Given the description of an element on the screen output the (x, y) to click on. 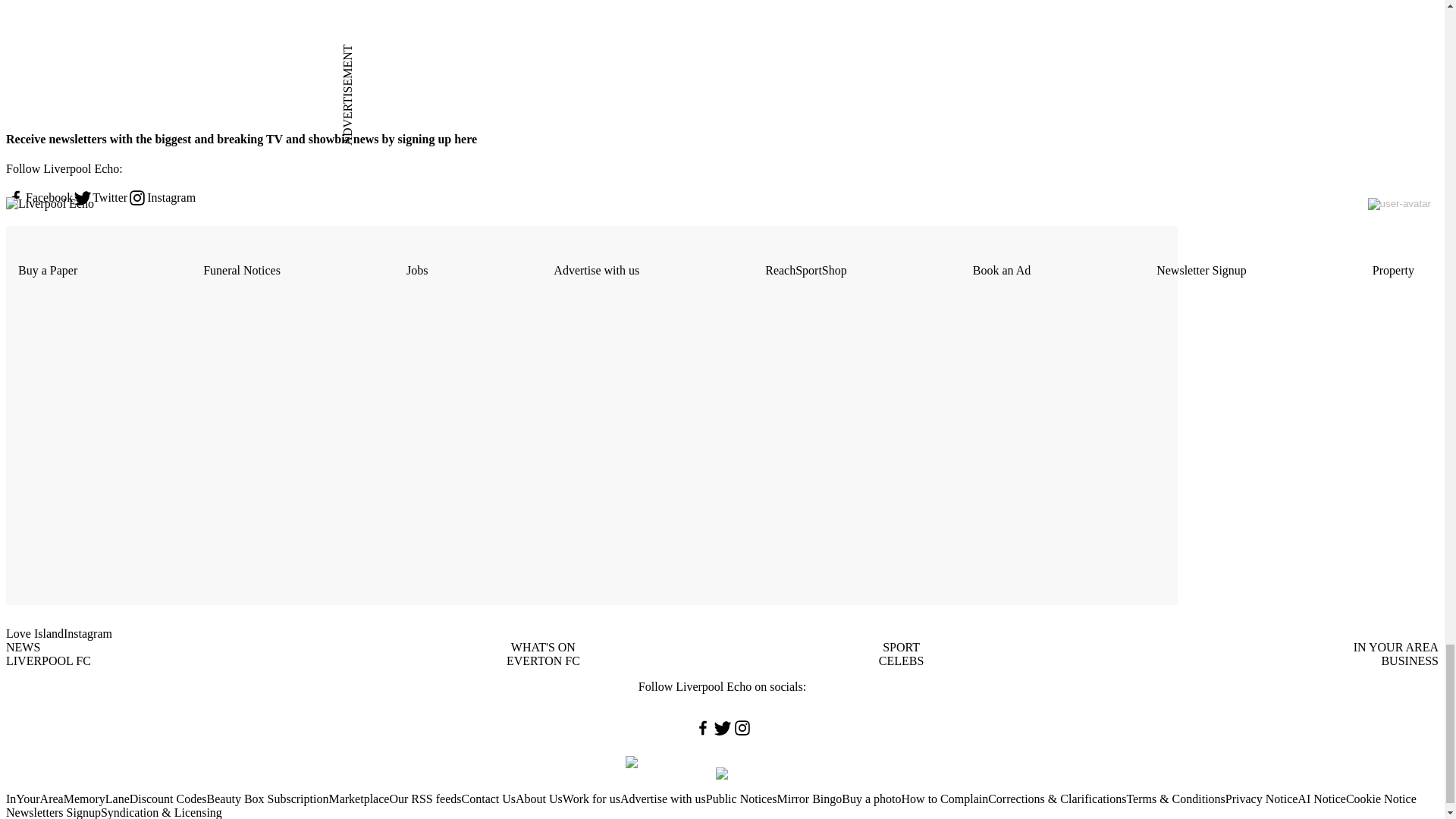
signing up here (435, 138)
Facebook (38, 198)
Instagram (161, 198)
Twitter (100, 198)
